Given the description of an element on the screen output the (x, y) to click on. 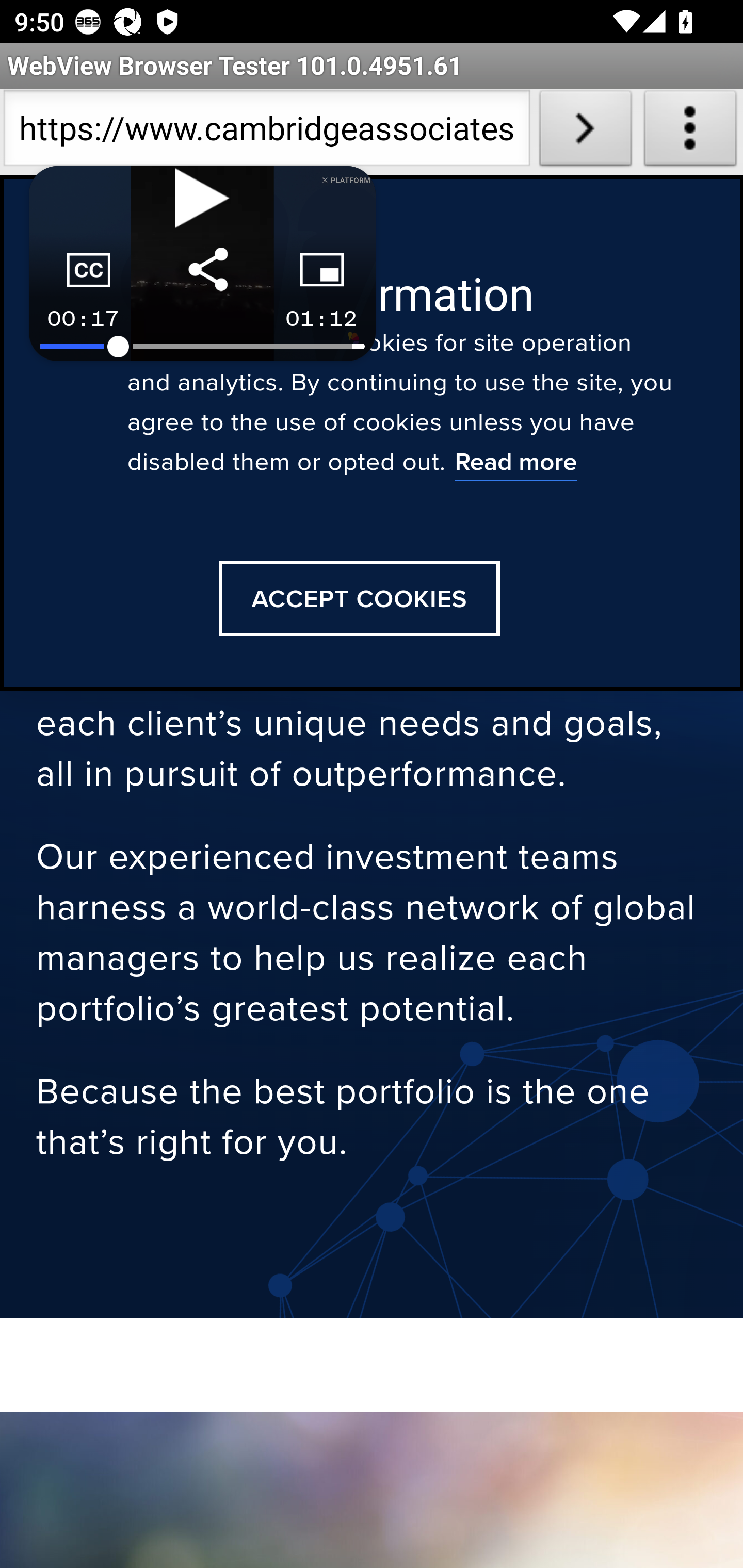
Load URL (585, 132)
About WebView (690, 132)
Read more (515, 464)
ACCEPT COOKIES (359, 598)
